Given the description of an element on the screen output the (x, y) to click on. 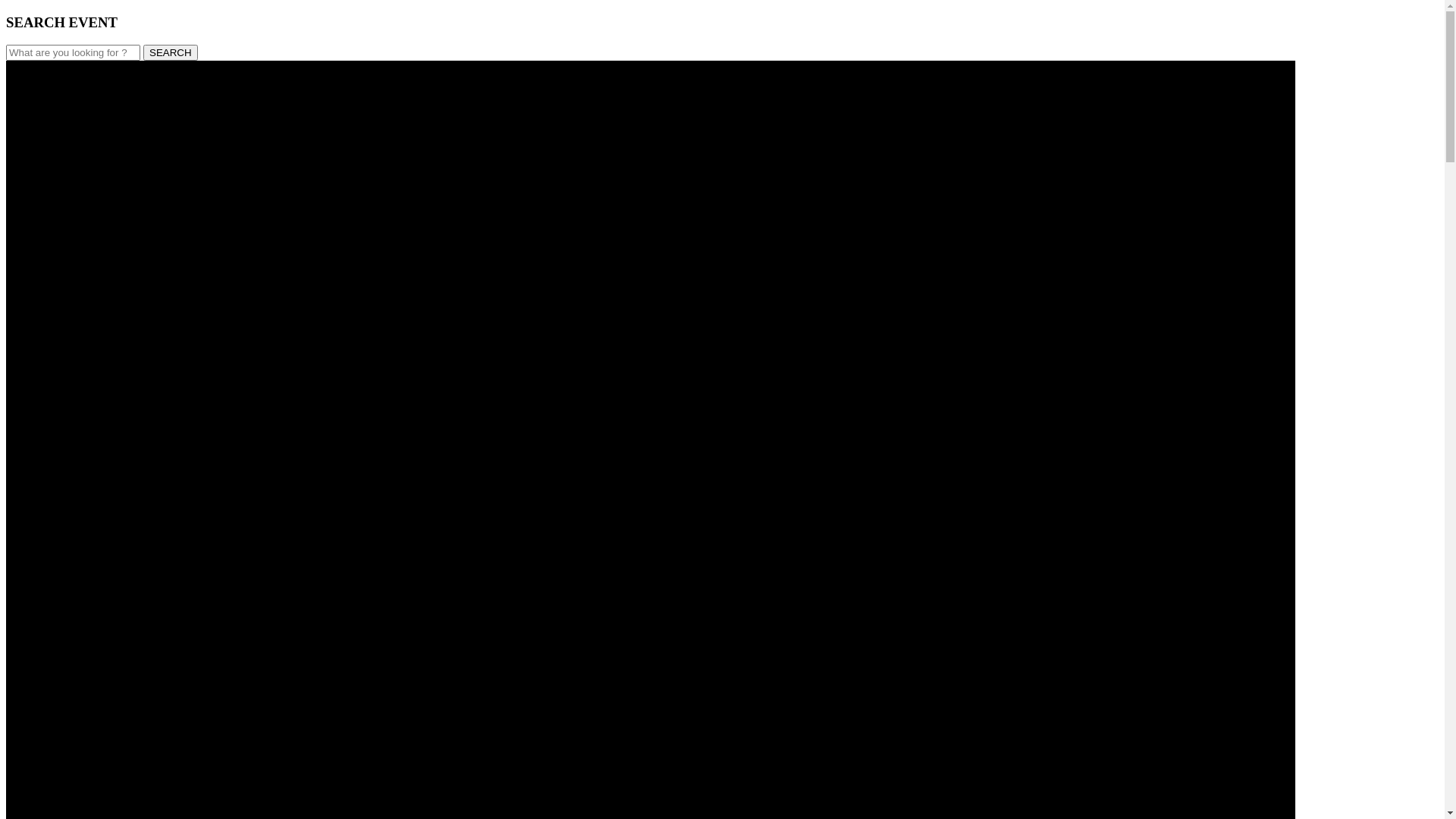
SEARCH Element type: text (170, 52)
